Given the description of an element on the screen output the (x, y) to click on. 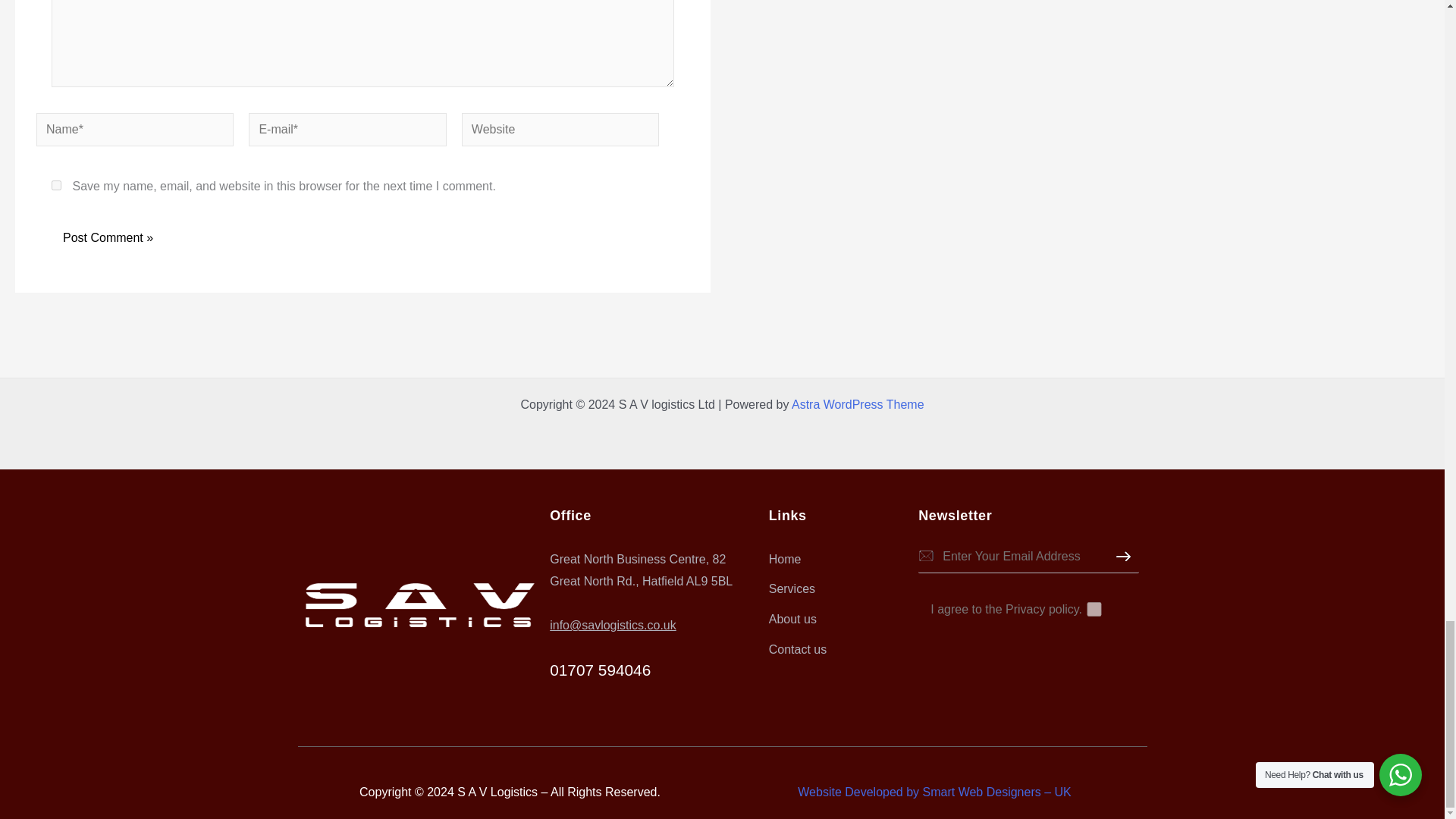
Submit (1138, 576)
yes (55, 185)
I agree to the Privacy policy. (1094, 608)
